Given the description of an element on the screen output the (x, y) to click on. 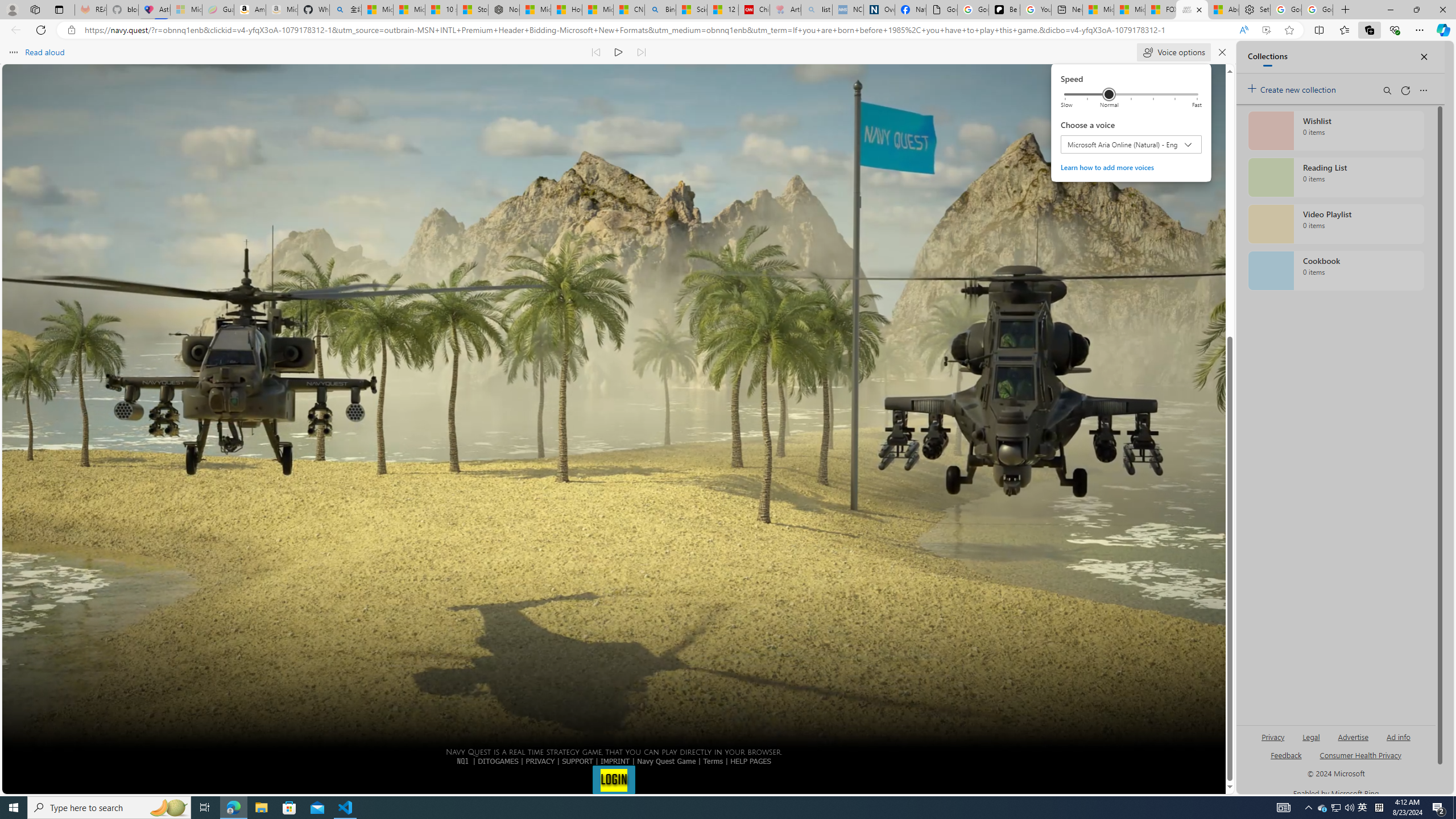
Running applications (700, 807)
Nordace - Nordace Siena Is Not An Ordinary Backpack (503, 9)
Continue to read aloud (Ctrl+Shift+U) (618, 52)
Navy Quest Game (666, 760)
SUPPORT (577, 760)
Show desktop (1454, 807)
HELP PAGES (750, 760)
Tray Input Indicator - Chinese (Simplified, China) (1378, 807)
CNN - MSN (628, 9)
